Given the description of an element on the screen output the (x, y) to click on. 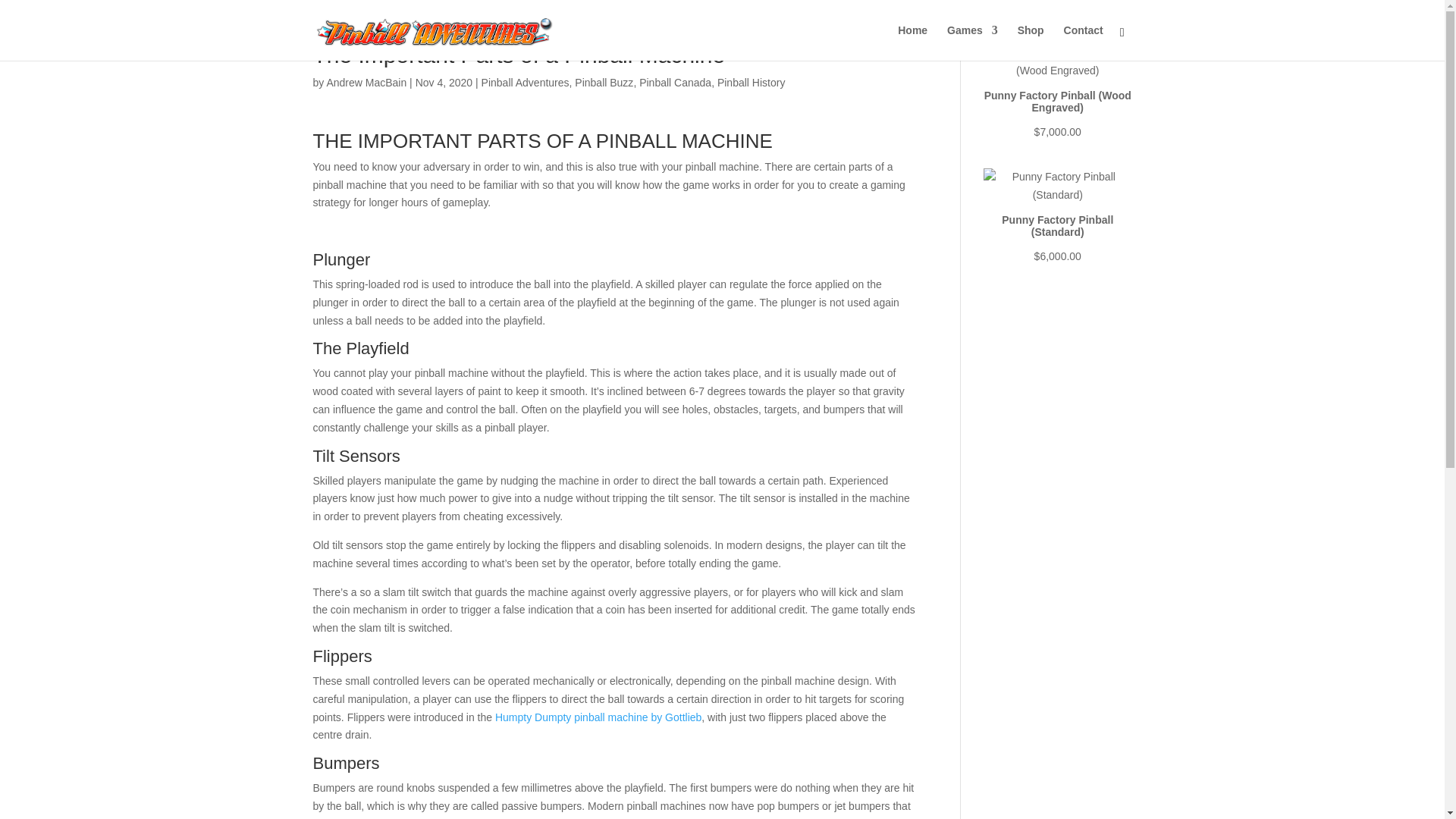
Contact (1083, 42)
Pinball Buzz (604, 82)
Pinball History (750, 82)
Pinball Canada (675, 82)
Posts by Andrew MacBain (366, 82)
Contact (1083, 42)
Games (972, 42)
Humpty Dumpty pinball machine by Gottlieb (598, 717)
Pinball Adventures (525, 82)
Andrew MacBain (366, 82)
